Given the description of an element on the screen output the (x, y) to click on. 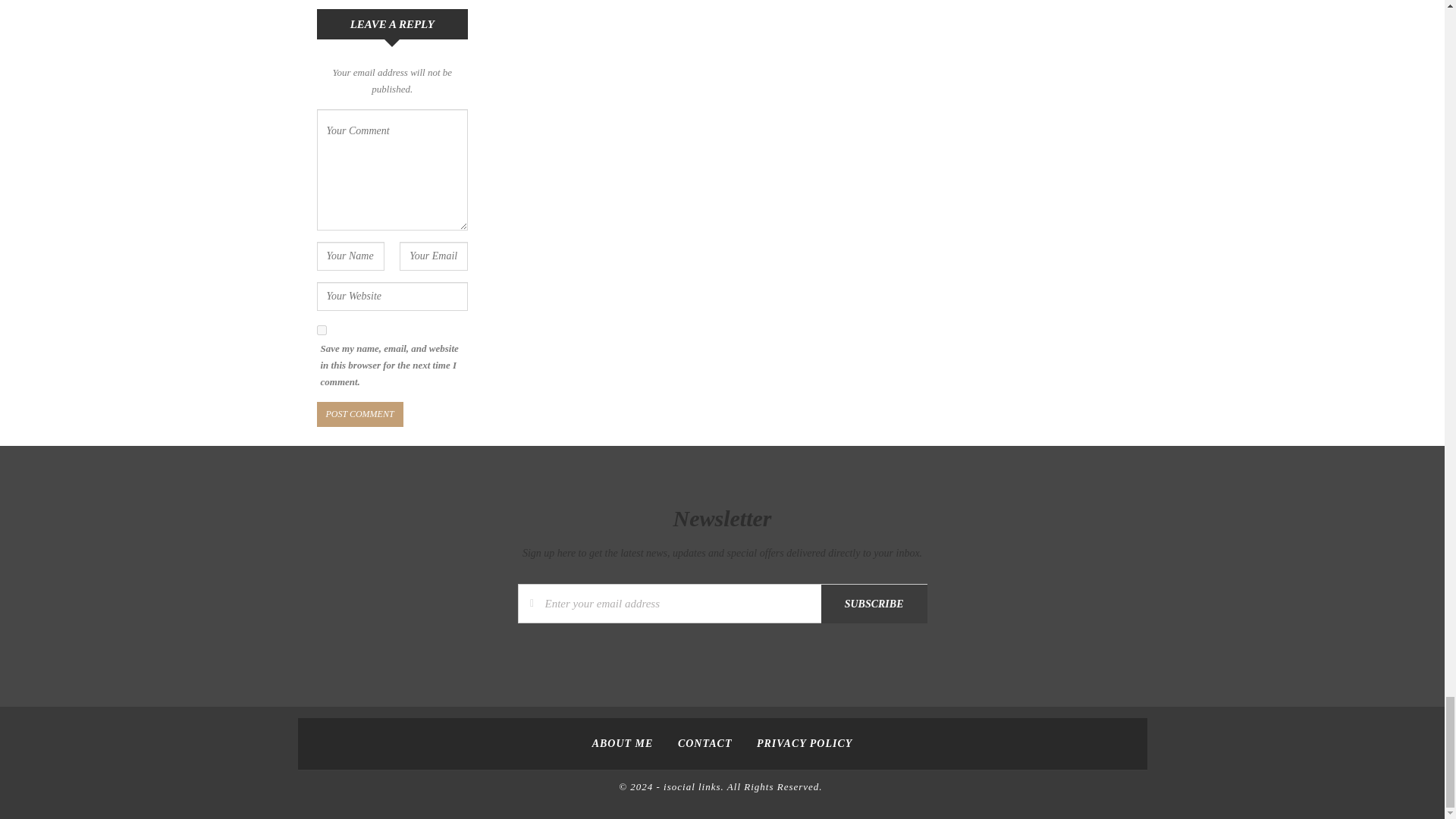
Post Comment (360, 414)
yes (321, 329)
